Given the description of an element on the screen output the (x, y) to click on. 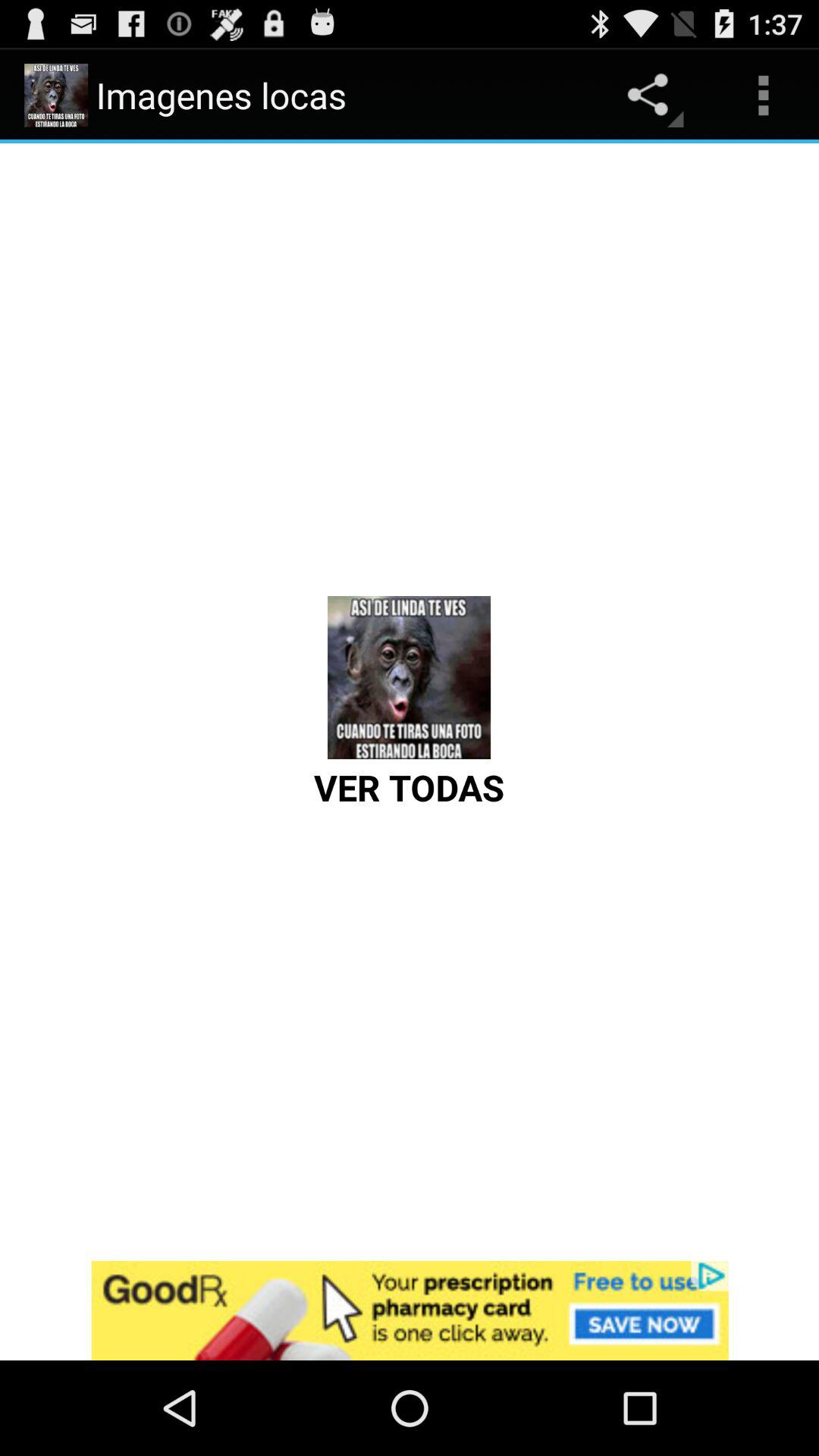
select the addvertisement (409, 1310)
